Given the description of an element on the screen output the (x, y) to click on. 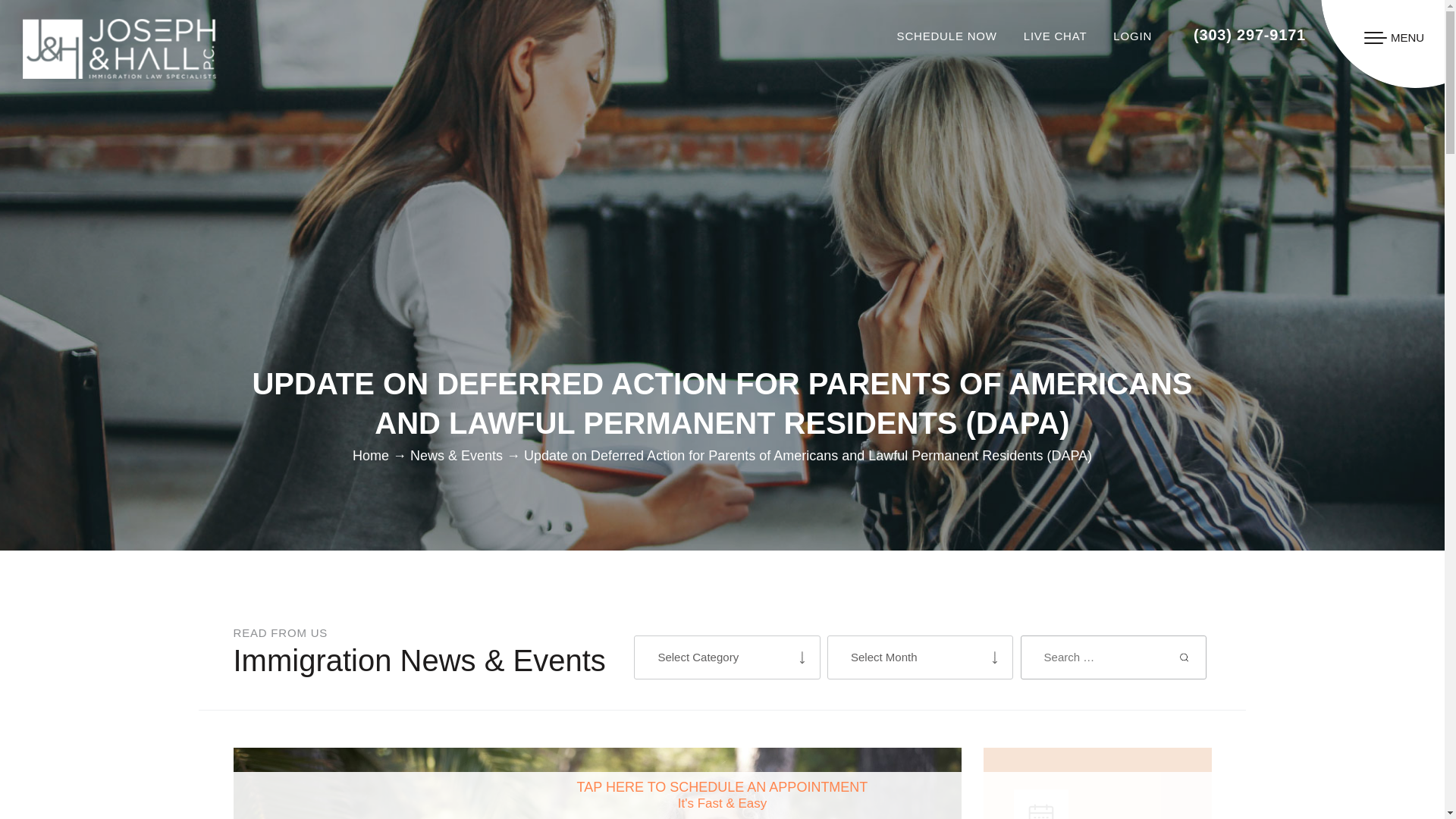
Search (1184, 656)
Search (1184, 656)
